Given the description of an element on the screen output the (x, y) to click on. 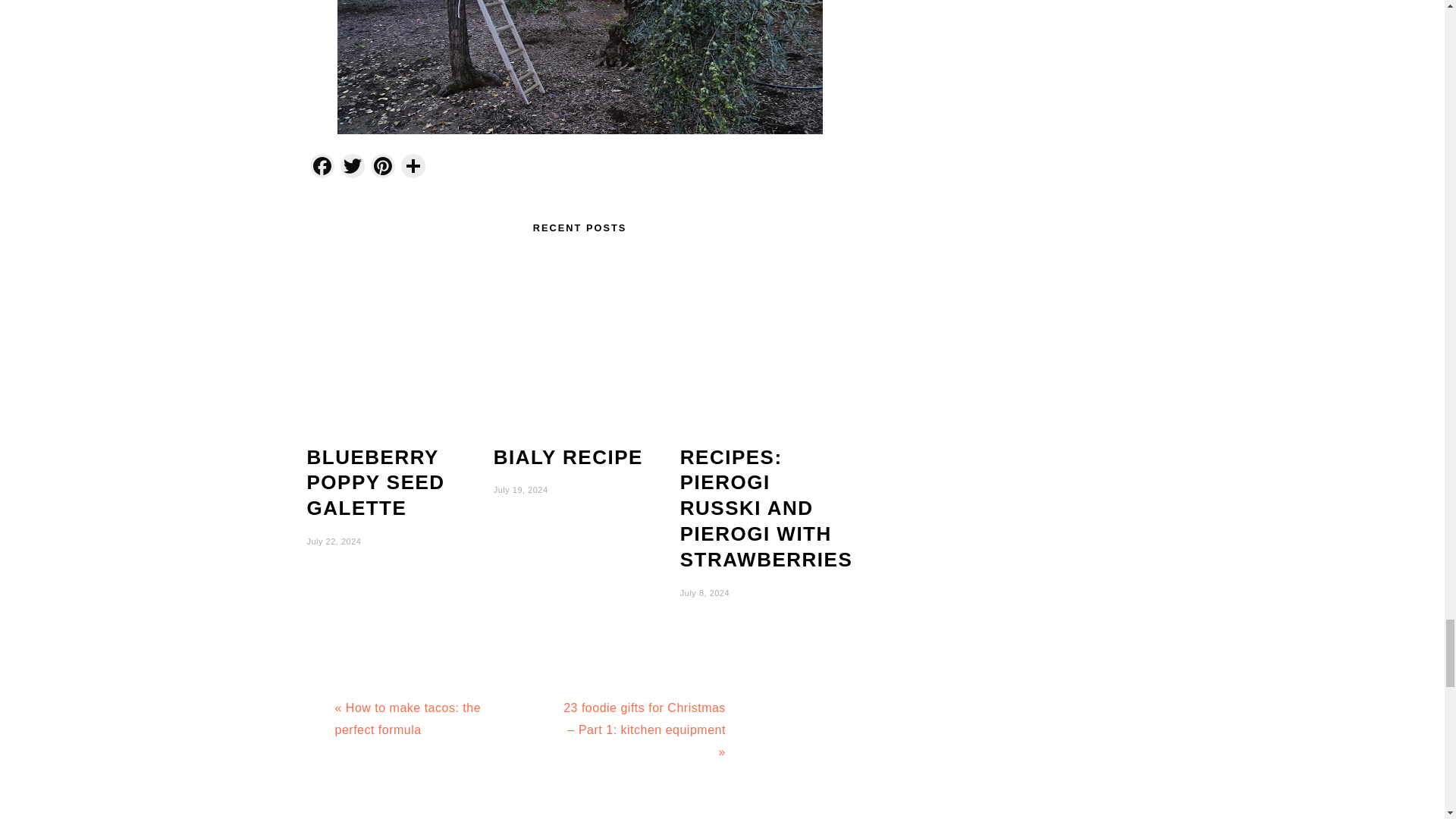
Pinterest (381, 167)
Facebook (320, 167)
Twitter (351, 167)
